Given the description of an element on the screen output the (x, y) to click on. 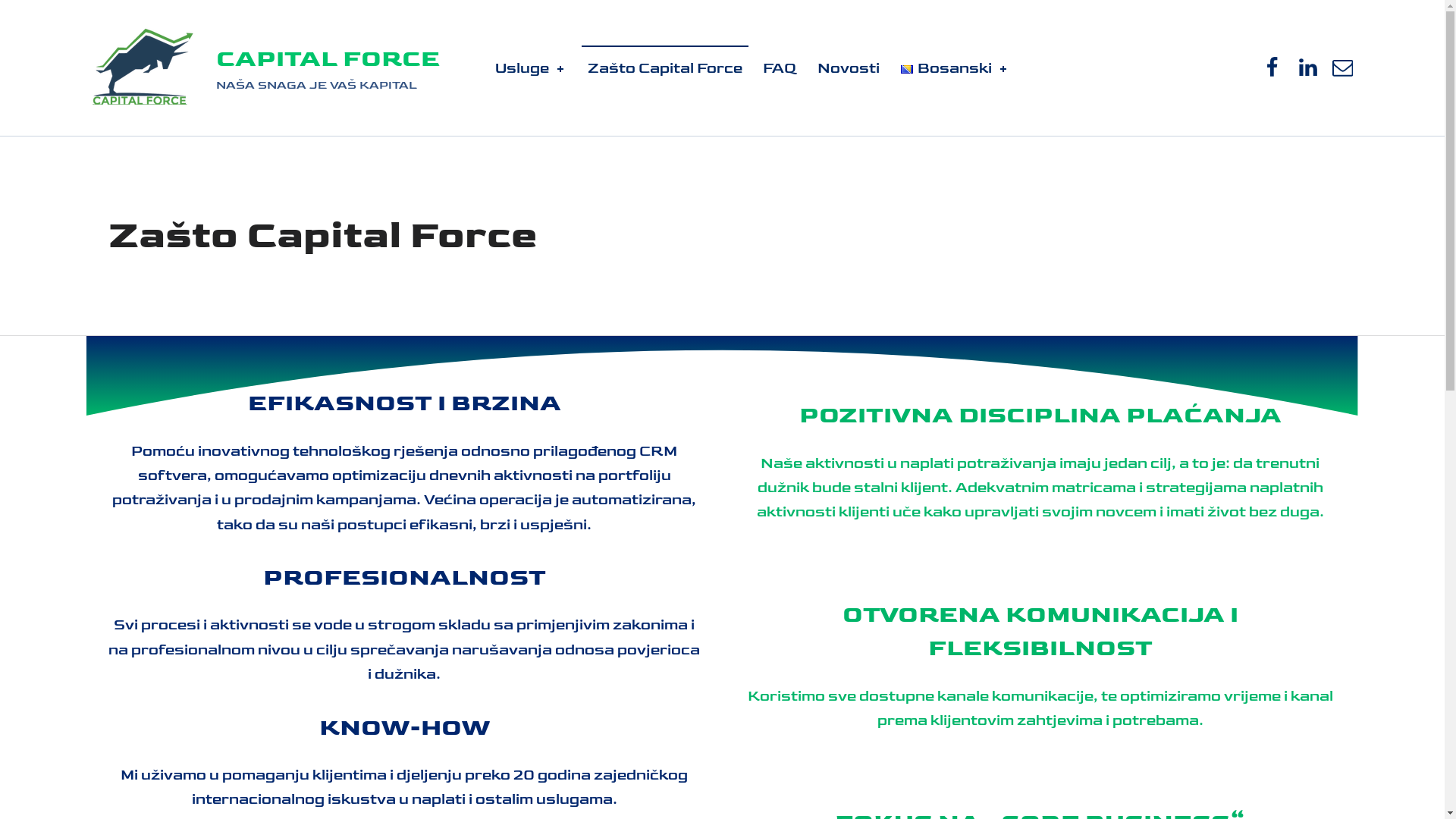
Usluge Element type: text (530, 67)
Email Element type: text (1342, 67)
FAQ Element type: text (779, 67)
Facebook Element type: text (1272, 67)
Novosti Element type: text (847, 67)
Bosanski Element type: text (954, 67)
CAPITAL FORCE Element type: text (327, 58)
LinkedIn Element type: text (1306, 67)
